Given the description of an element on the screen output the (x, y) to click on. 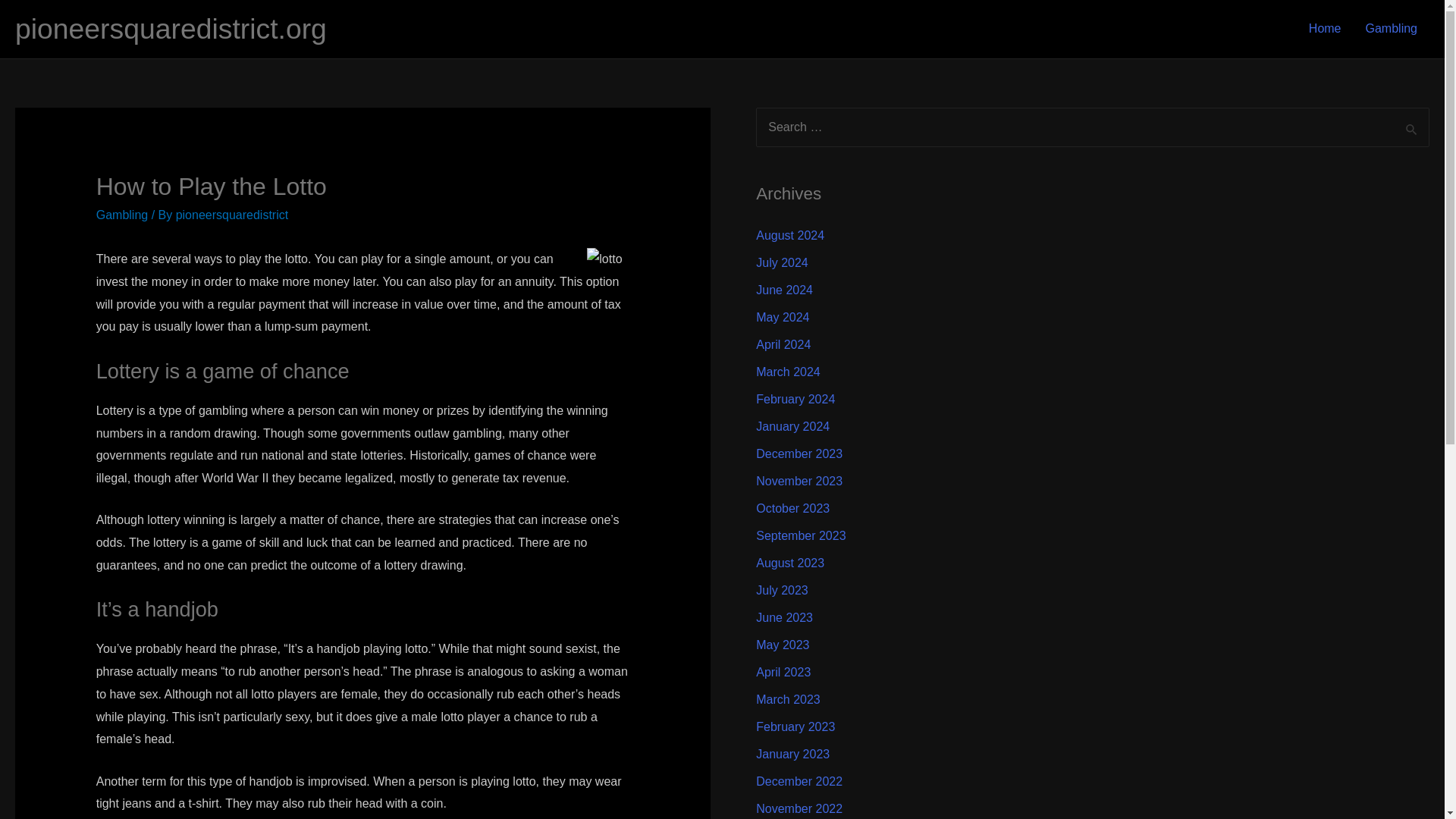
October 2023 (792, 508)
August 2023 (789, 562)
Home (1325, 28)
June 2023 (783, 617)
December 2023 (799, 453)
July 2023 (781, 590)
September 2023 (800, 535)
pioneersquaredistrict (232, 214)
August 2024 (789, 235)
pioneersquaredistrict.org (170, 29)
